Given the description of an element on the screen output the (x, y) to click on. 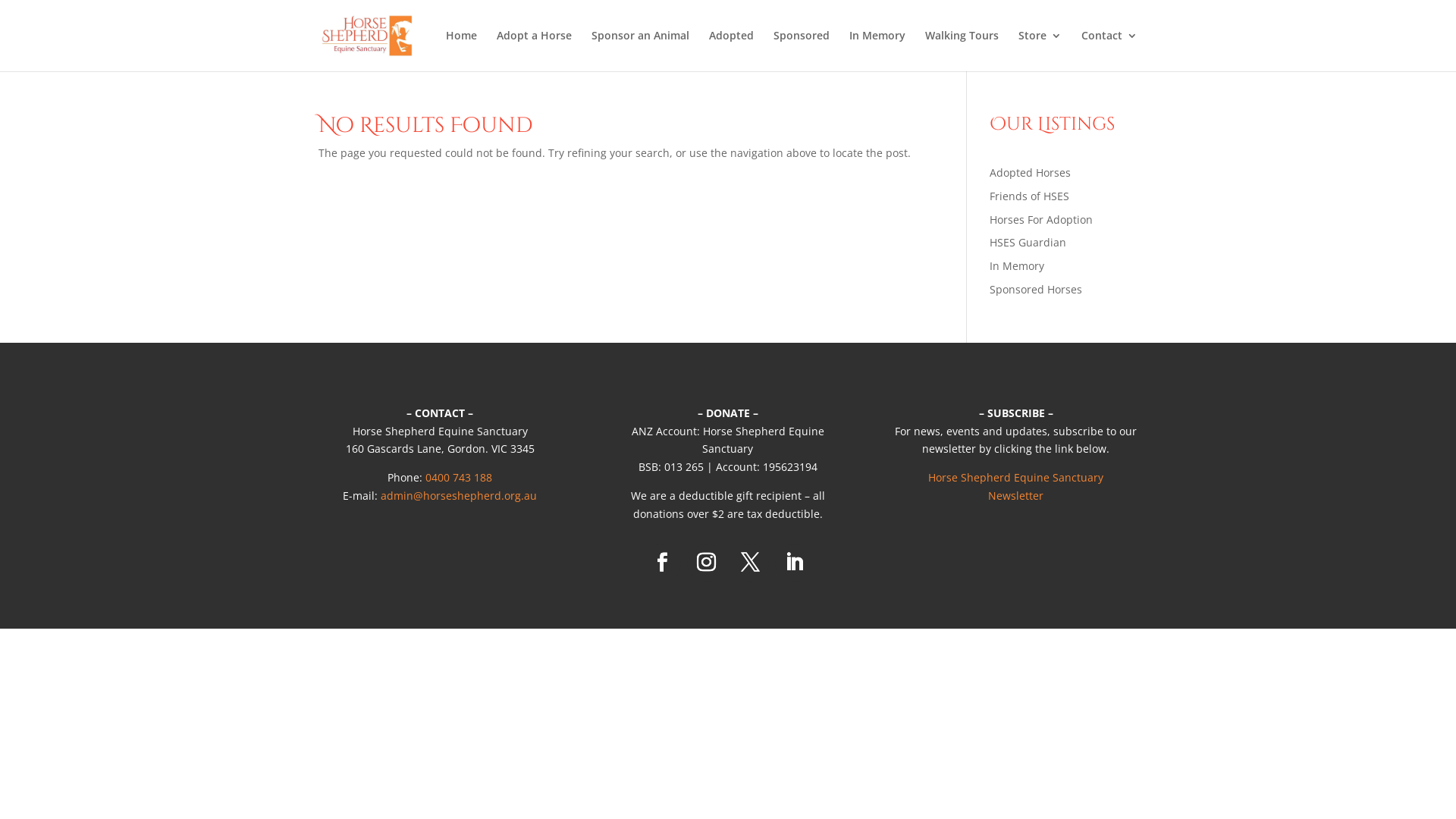
Adopt a Horse Element type: text (533, 50)
In Memory Element type: text (1016, 265)
Contact Element type: text (1109, 50)
Adopted Element type: text (731, 50)
Store Element type: text (1039, 50)
Follow on Facebook Element type: hover (661, 562)
In Memory Element type: text (877, 50)
Sponsored Element type: text (801, 50)
admin@horseshepherd.org.au Element type: text (458, 495)
Follow on X Element type: hover (749, 562)
Adopted Horses Element type: text (1029, 172)
Horses For Adoption Element type: text (1040, 219)
Horse Shepherd Equine Sanctuary Element type: text (1015, 477)
Sponsored Horses Element type: text (1035, 289)
0400 743 188 Element type: text (458, 477)
HSES Guardian Element type: text (1027, 242)
Sponsor an Animal Element type: text (640, 50)
Home Element type: text (460, 50)
Follow on LinkedIn Element type: hover (793, 562)
Follow on Instagram Element type: hover (705, 562)
Newsletter Element type: text (1015, 495)
Walking Tours Element type: text (961, 50)
Friends of HSES Element type: text (1029, 195)
